Given the description of an element on the screen output the (x, y) to click on. 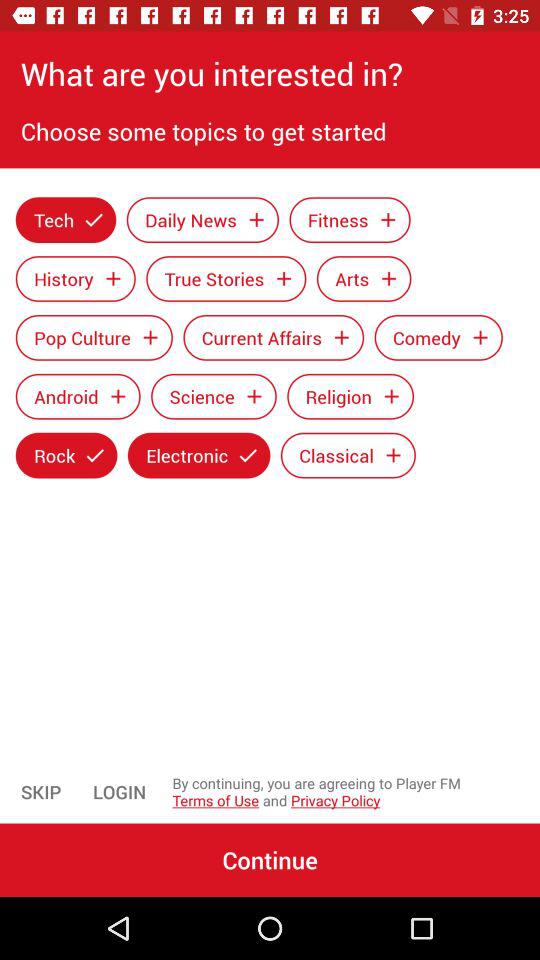
launch item next to the login icon (41, 791)
